Given the description of an element on the screen output the (x, y) to click on. 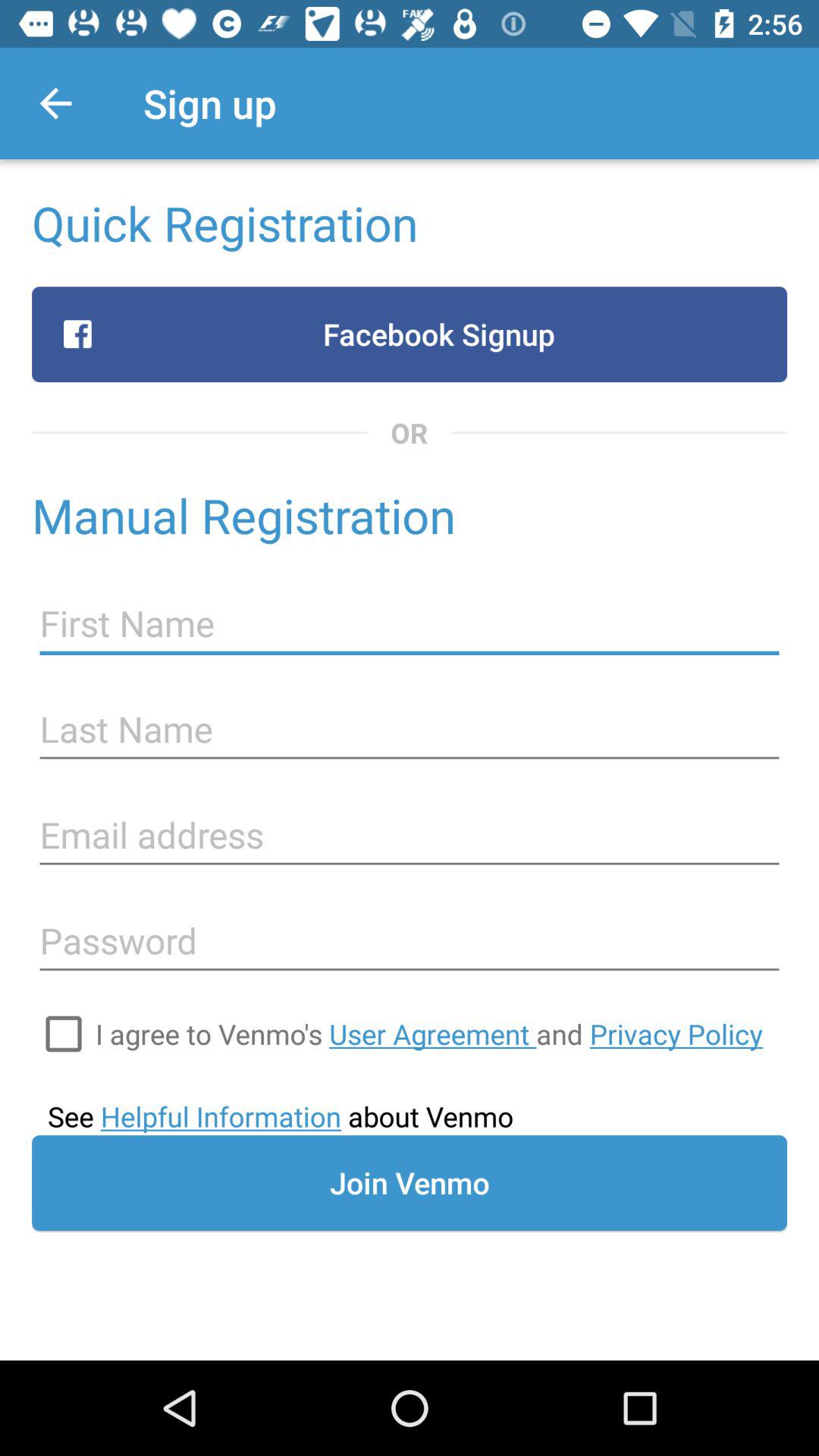
email address field (409, 835)
